Given the description of an element on the screen output the (x, y) to click on. 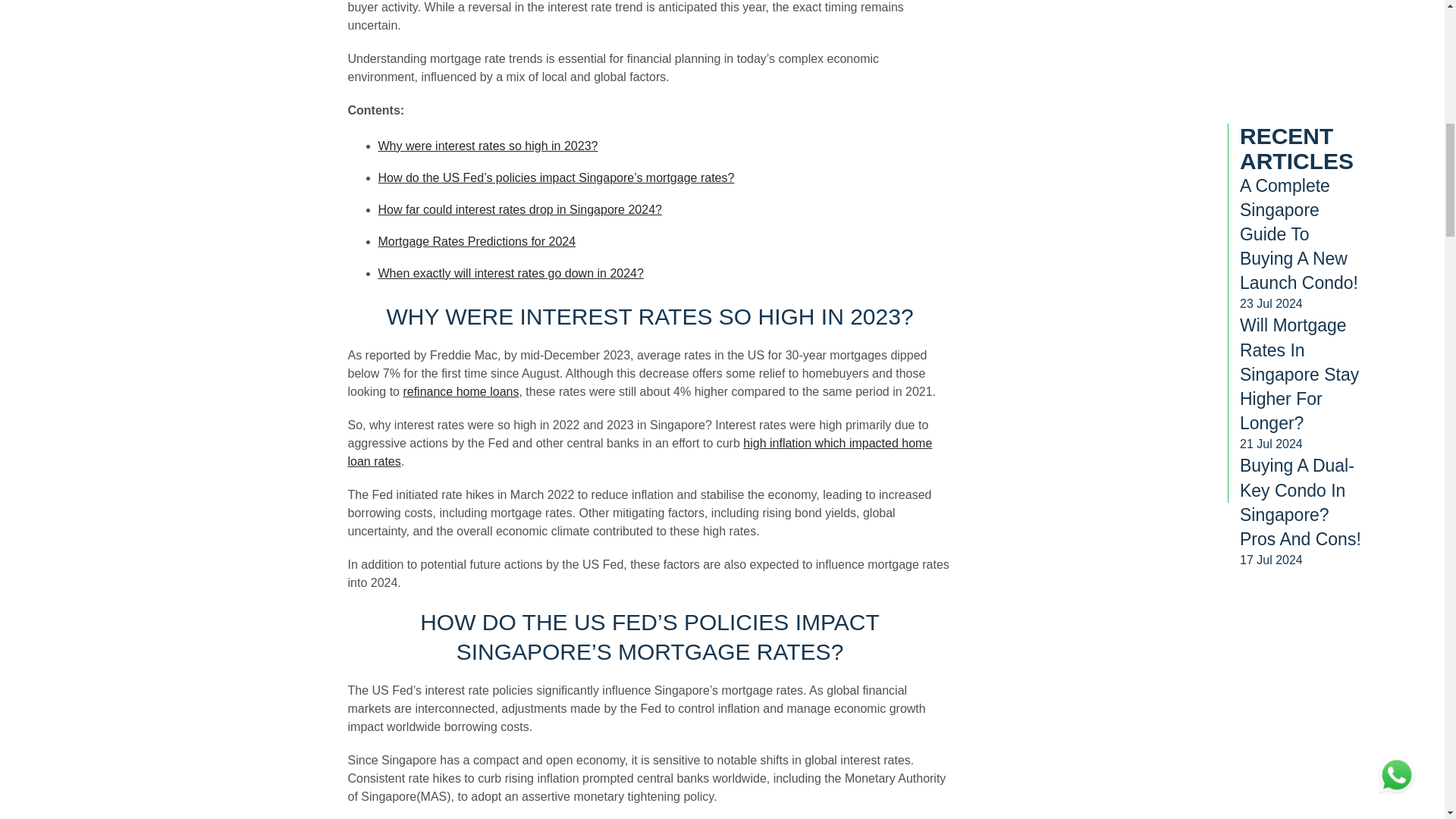
When exactly will interest rates go down in 2024? (510, 273)
high inflation which impacted home loan rates (639, 451)
How far could interest rates drop in Singapore 2024? (519, 209)
Mortgage Rates Predictions for 2024 (476, 241)
Why were interest rates so high in 2023? (486, 145)
refinance home loans (460, 391)
